Given the description of an element on the screen output the (x, y) to click on. 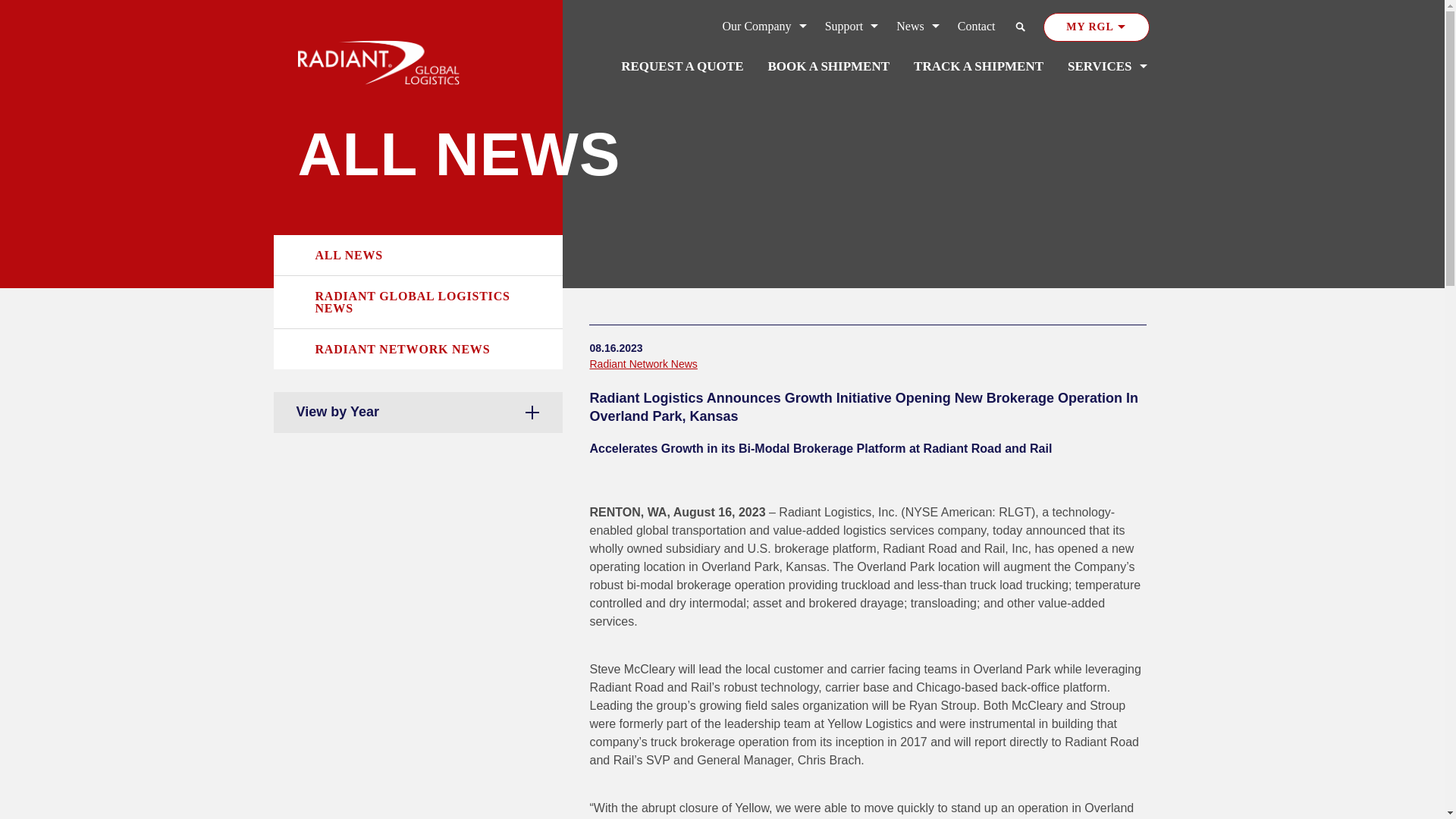
REQUEST A QUOTE (681, 66)
Support (852, 26)
BOOK A SHIPMENT (828, 66)
SERVICES (1107, 66)
MY RGL (1096, 27)
Our Company (764, 26)
News (917, 26)
TRACK A SHIPMENT (978, 66)
Contact (976, 26)
